Given the description of an element on the screen output the (x, y) to click on. 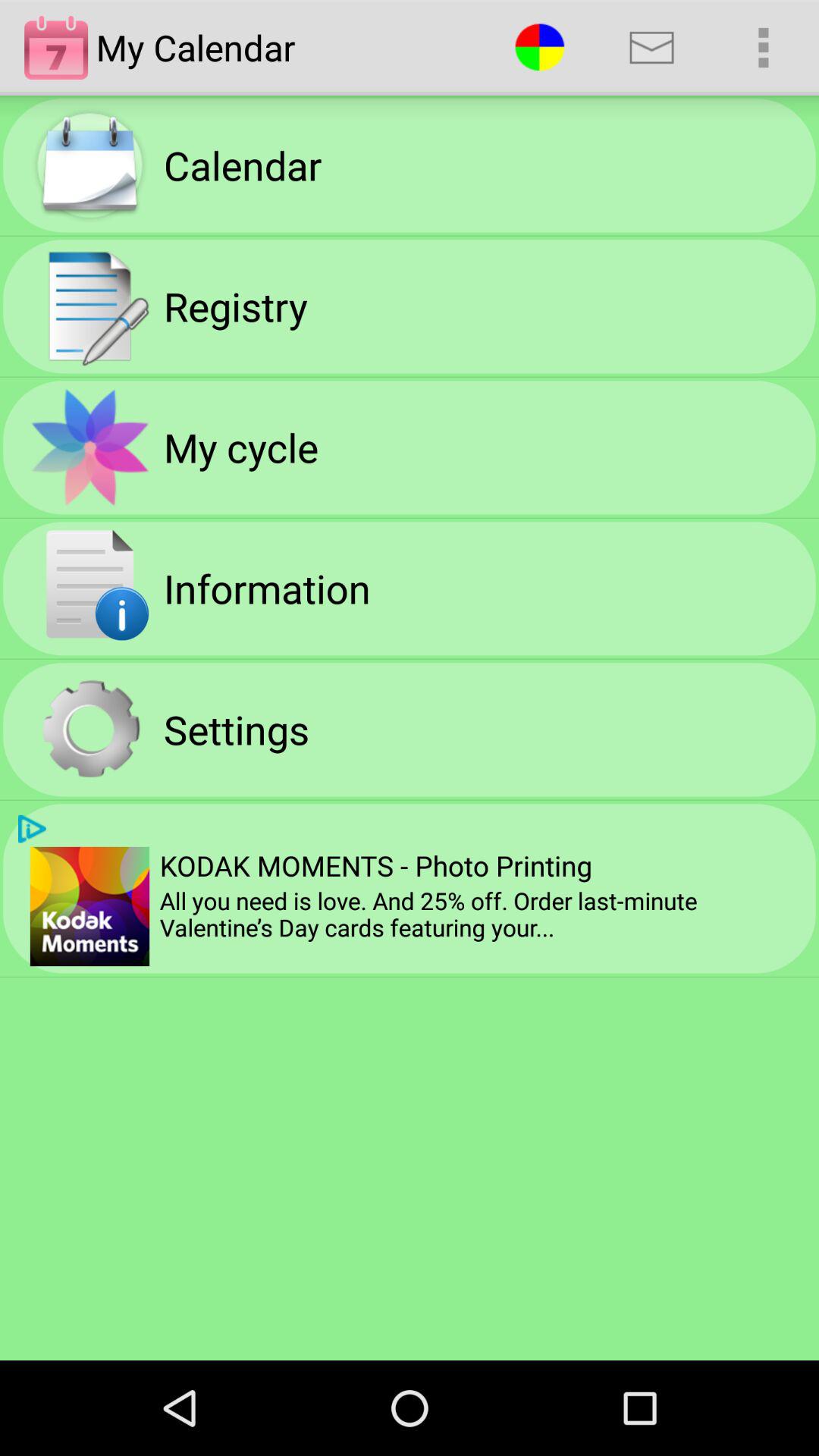
tap the icon above my cycle (235, 305)
